Given the description of an element on the screen output the (x, y) to click on. 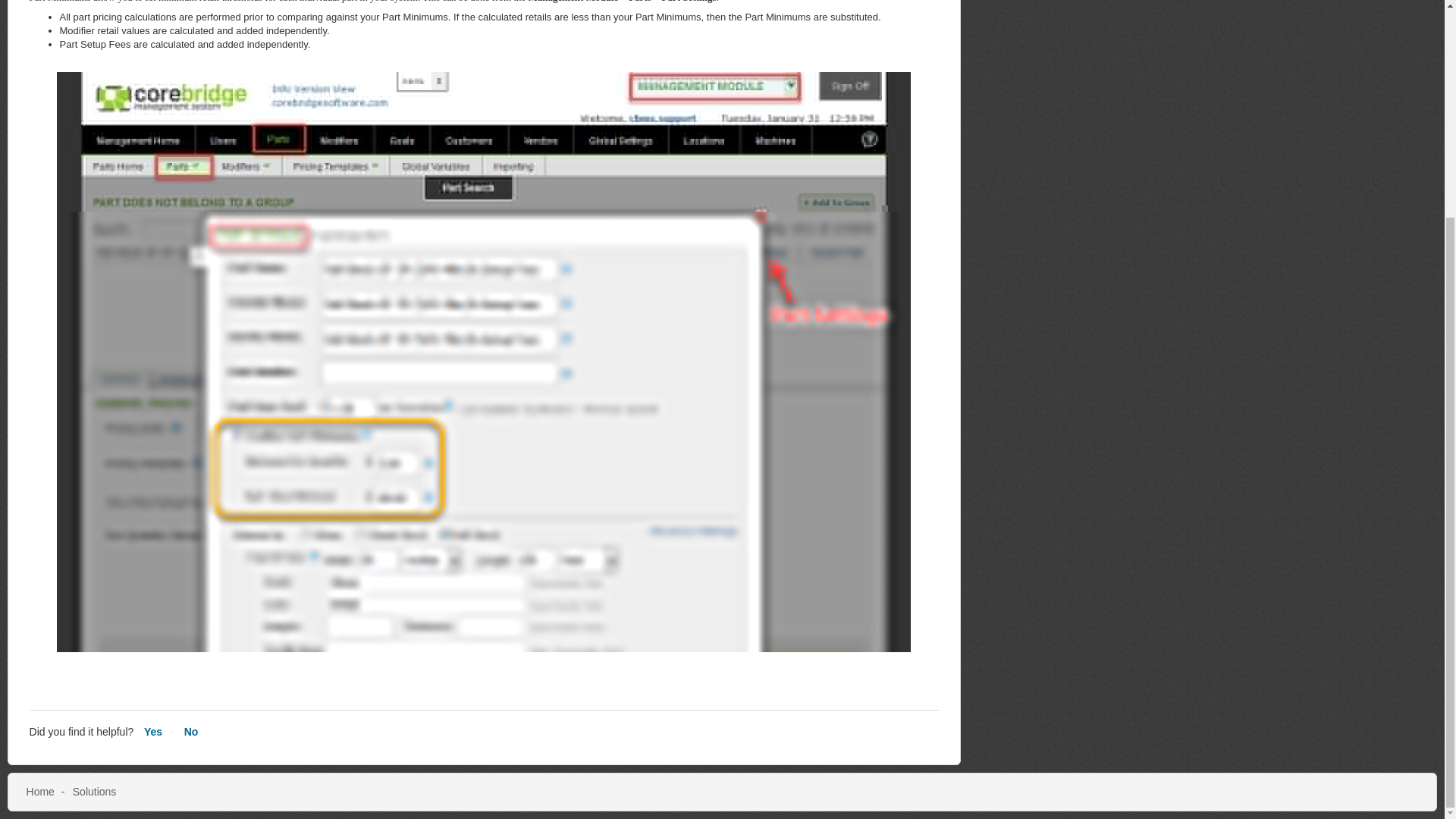
Solutions (94, 791)
Home (40, 791)
